Given the description of an element on the screen output the (x, y) to click on. 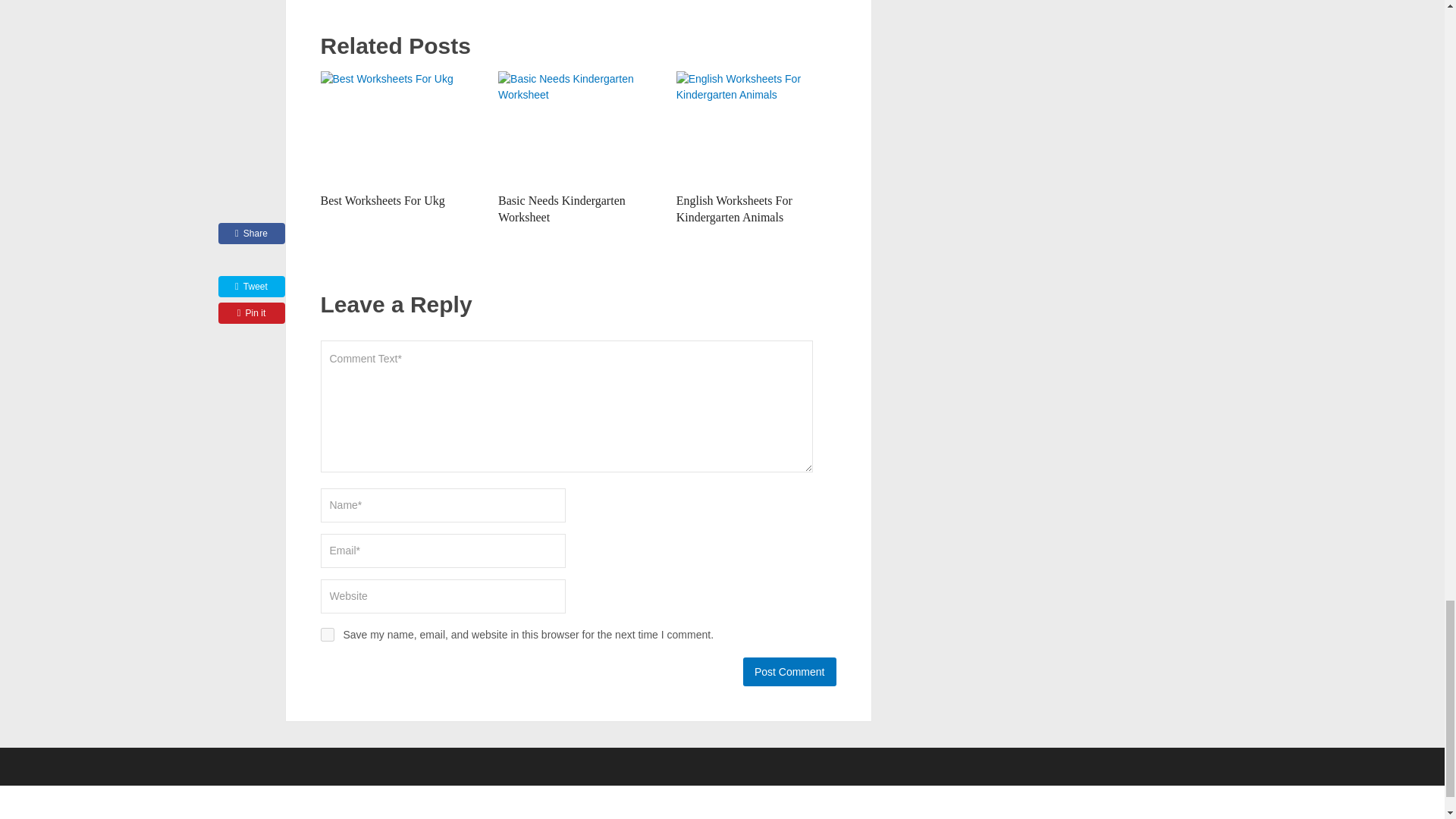
Post Comment (788, 671)
Basic Needs Kindergarten Worksheet (577, 128)
English Worksheets For Kindergarten Animals (756, 128)
yes (326, 634)
Basic Needs Kindergarten Worksheet (561, 208)
English Worksheets For Kindergarten Animals (734, 208)
Best Worksheets For Ukg (382, 200)
Basic Needs Kindergarten Worksheet (561, 208)
Post Comment (788, 671)
Best Worksheets For Ukg (400, 128)
Best Worksheets For Ukg (382, 200)
